Given the description of an element on the screen output the (x, y) to click on. 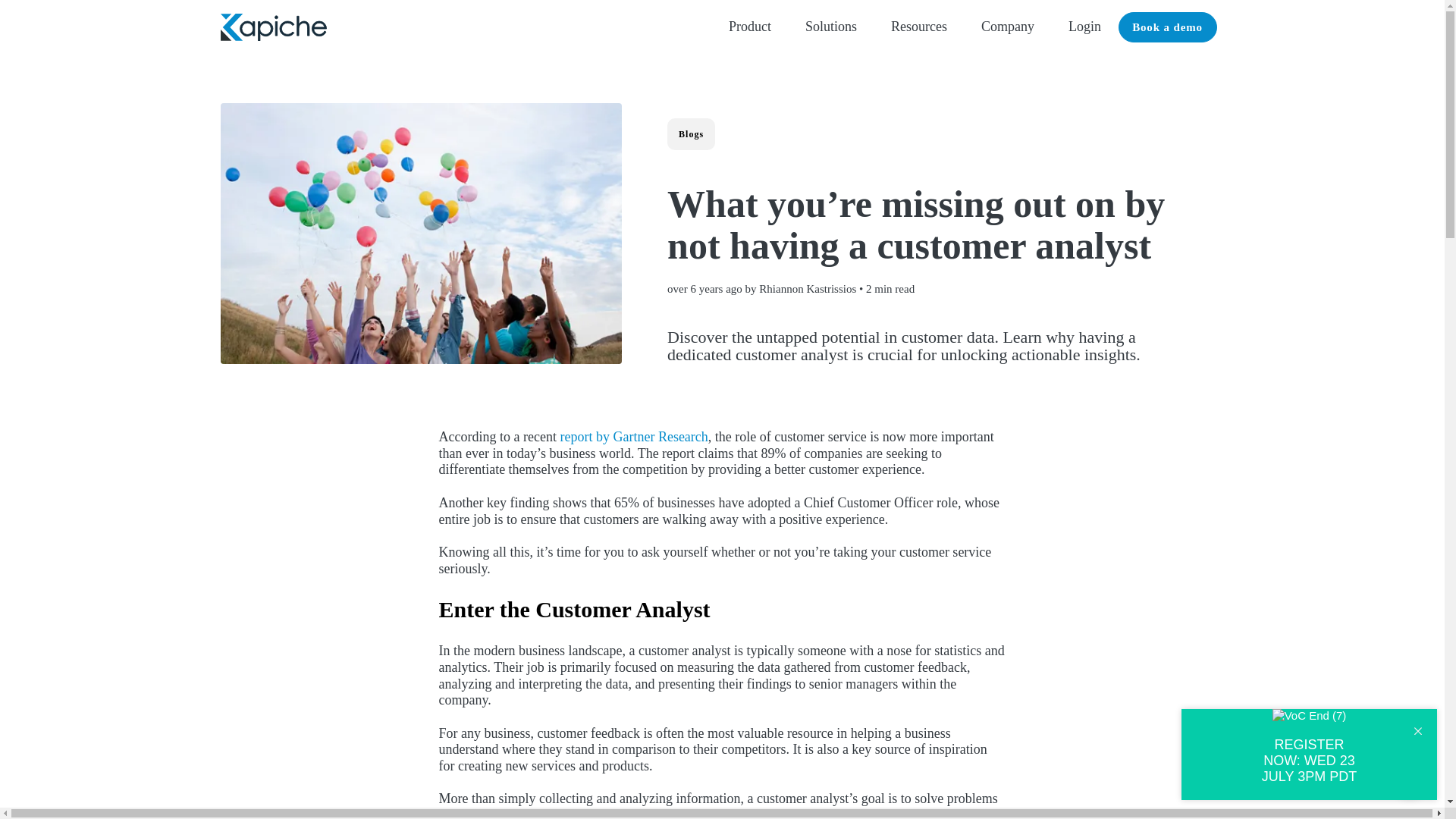
Popup CTA (1308, 754)
Login (1084, 27)
Chat Widget (1406, 770)
Book a demo (1166, 27)
